Given the description of an element on the screen output the (x, y) to click on. 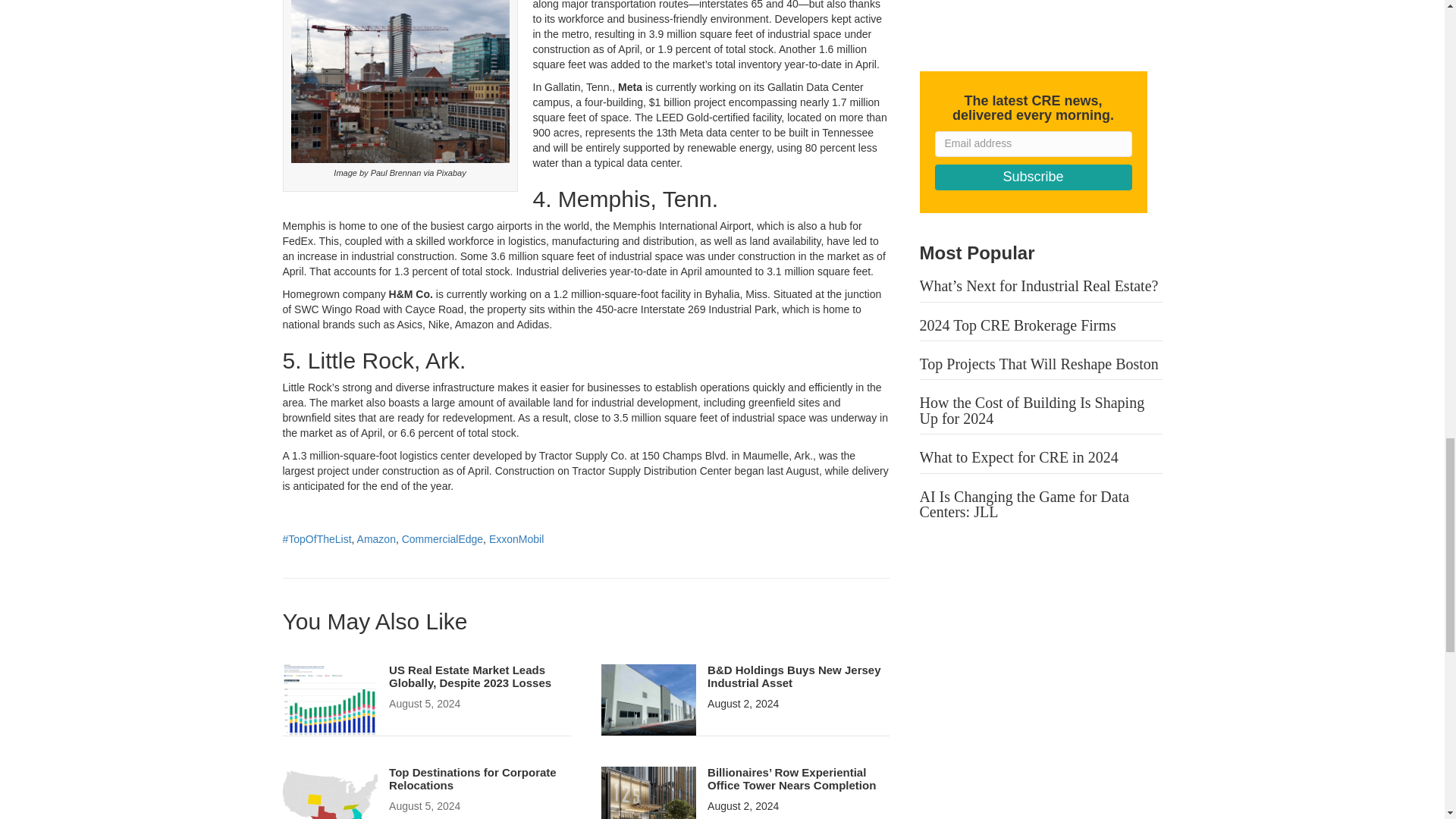
Top Destinations for Corporate Relocations (329, 801)
US Real Estate Market Leads Globally, Despite 2023 Losses (469, 676)
Top Destinations for Corporate Relocations (472, 778)
US Real Estate Market Leads Globally, Despite 2023 Losses (329, 698)
